Given the description of an element on the screen output the (x, y) to click on. 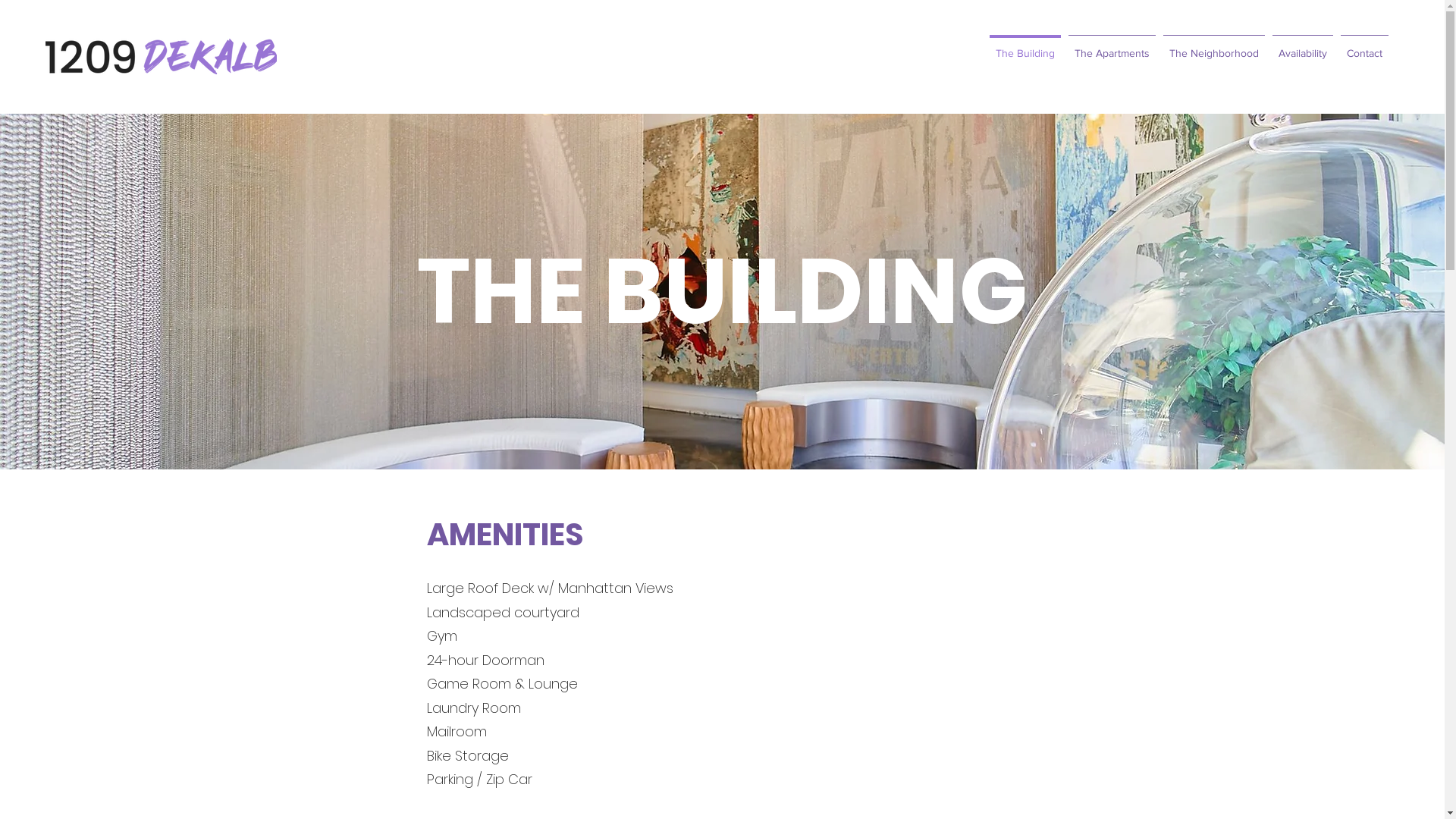
Contact Element type: text (1364, 45)
The Neighborhood Element type: text (1213, 45)
The Apartments Element type: text (1111, 45)
The Building Element type: text (1024, 45)
Availability Element type: text (1302, 45)
